Given the description of an element on the screen output the (x, y) to click on. 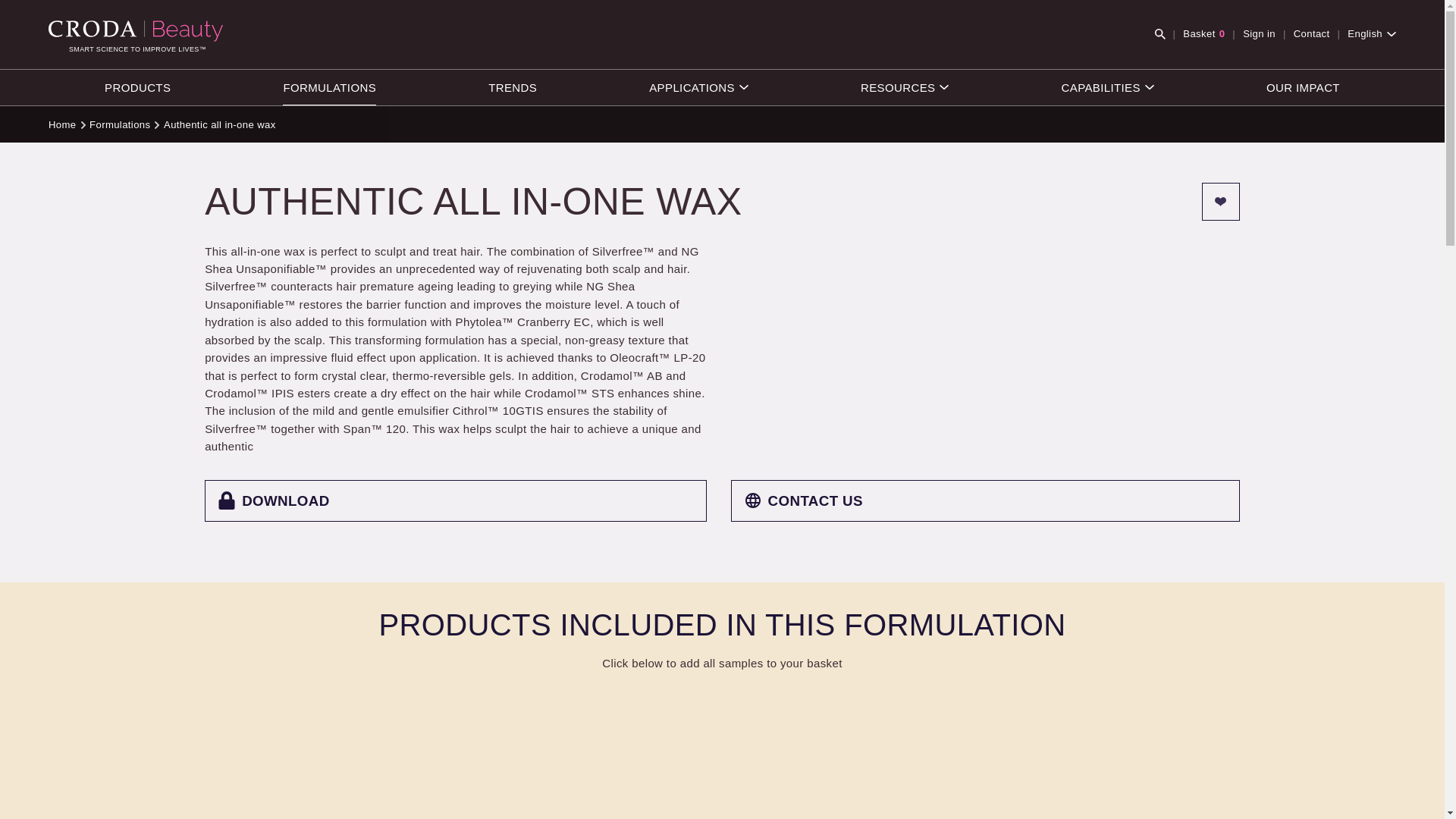
Login (1221, 200)
TRENDS (1203, 34)
English (512, 87)
RESOURCES (1372, 34)
Open search (904, 87)
Sign in (1160, 33)
FORMULATIONS (1259, 34)
APPLICATIONS (328, 87)
PRODUCTS (698, 87)
Contact (137, 87)
